Given the description of an element on the screen output the (x, y) to click on. 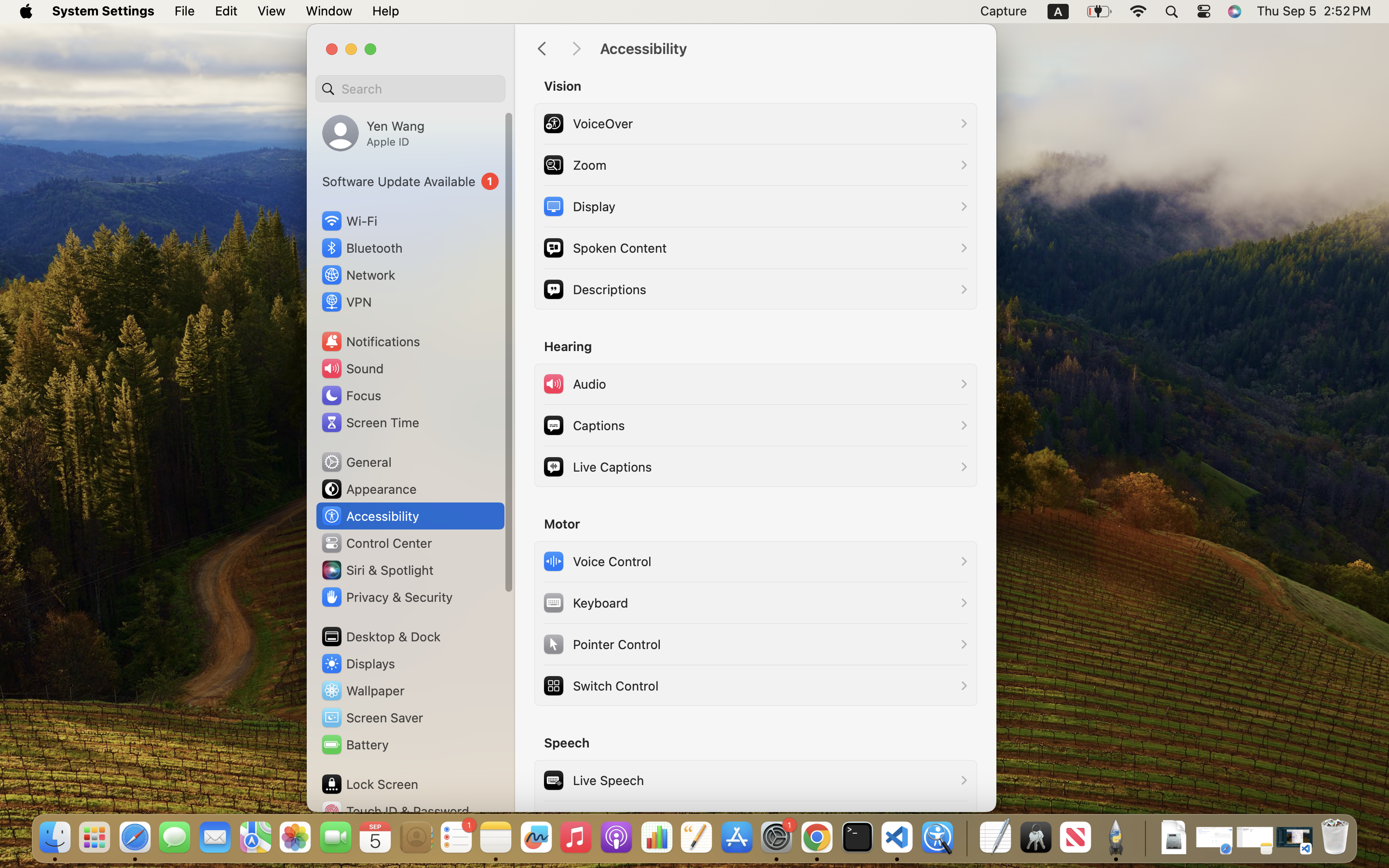
Network Element type: AXStaticText (357, 274)
Yen Wang, Apple ID Element type: AXStaticText (373, 132)
Sound Element type: AXStaticText (351, 367)
Wallpaper Element type: AXStaticText (362, 690)
Appearance Element type: AXStaticText (368, 488)
